Given the description of an element on the screen output the (x, y) to click on. 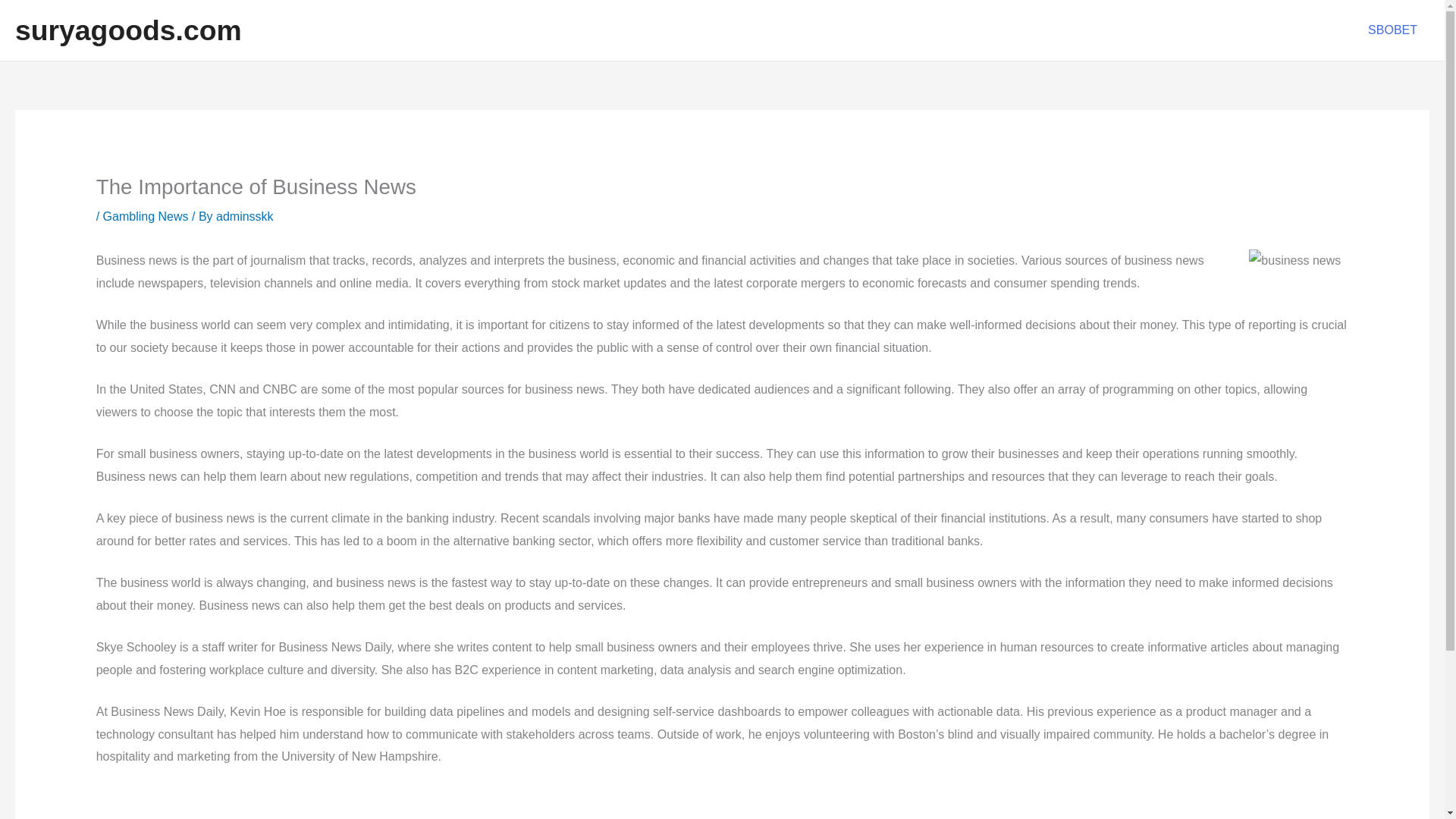
adminsskk (244, 215)
Gambling News (146, 215)
SBOBET (1392, 30)
View all posts by adminsskk (244, 215)
suryagoods.com (127, 29)
